Given the description of an element on the screen output the (x, y) to click on. 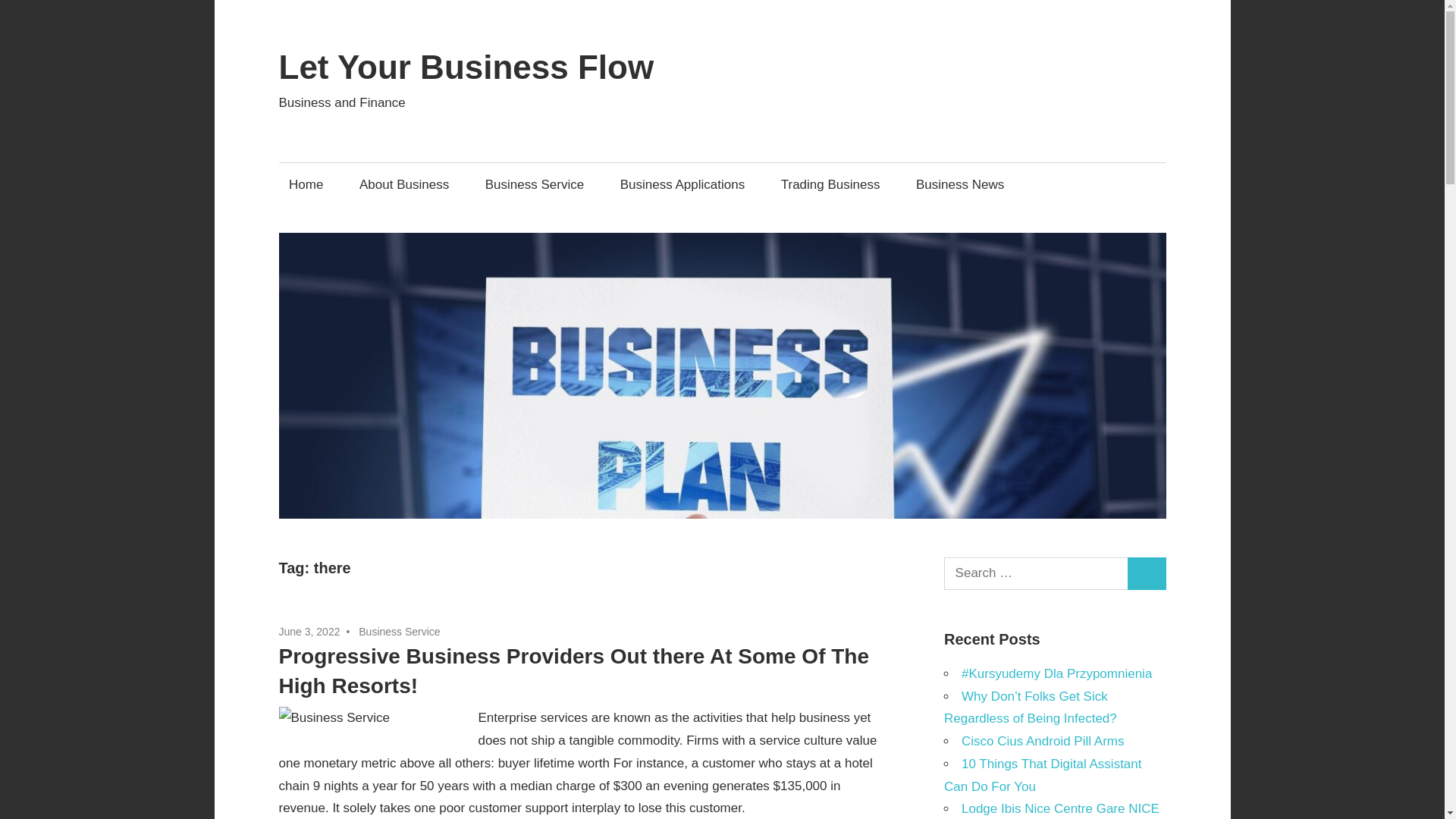
Cisco Cius Android Pill Arms (1042, 740)
June 3, 2022 (309, 631)
Let Your Business Flow (466, 66)
1:59 am (309, 631)
10 Things That Digital Assistant Can Do For You (1042, 774)
About Business (403, 184)
Business Applications (682, 184)
Search (1146, 573)
Business News (959, 184)
Trading Business (829, 184)
Search for: (1035, 573)
Home (306, 184)
Lodge Ibis Nice Centre Gare NICE 3 Stars (1050, 810)
